Given the description of an element on the screen output the (x, y) to click on. 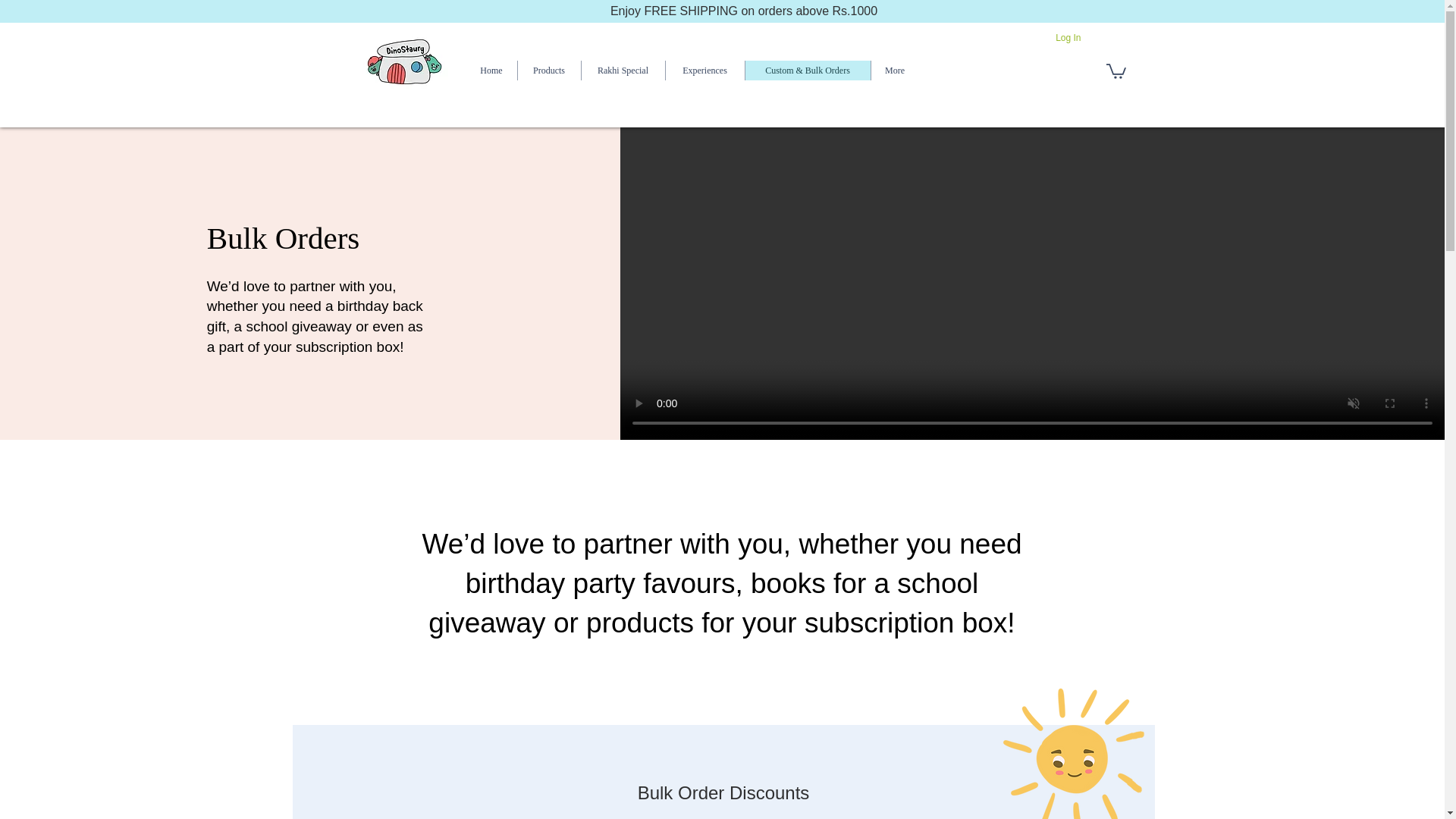
Log In (1067, 38)
Home (490, 70)
Experiences (703, 70)
Products (548, 70)
Rakhi Special (622, 70)
